Given the description of an element on the screen output the (x, y) to click on. 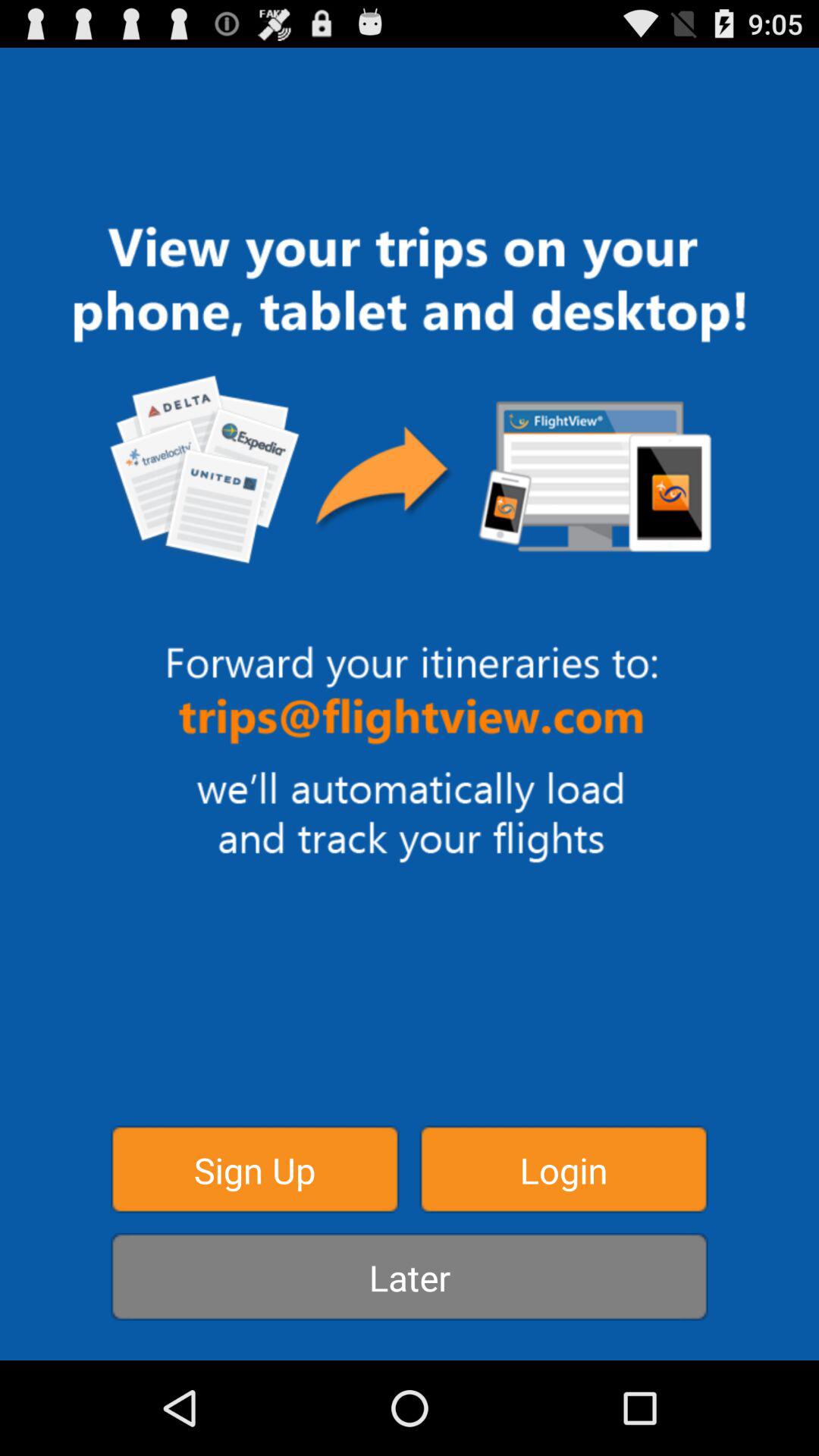
choose button next to the login icon (254, 1169)
